Given the description of an element on the screen output the (x, y) to click on. 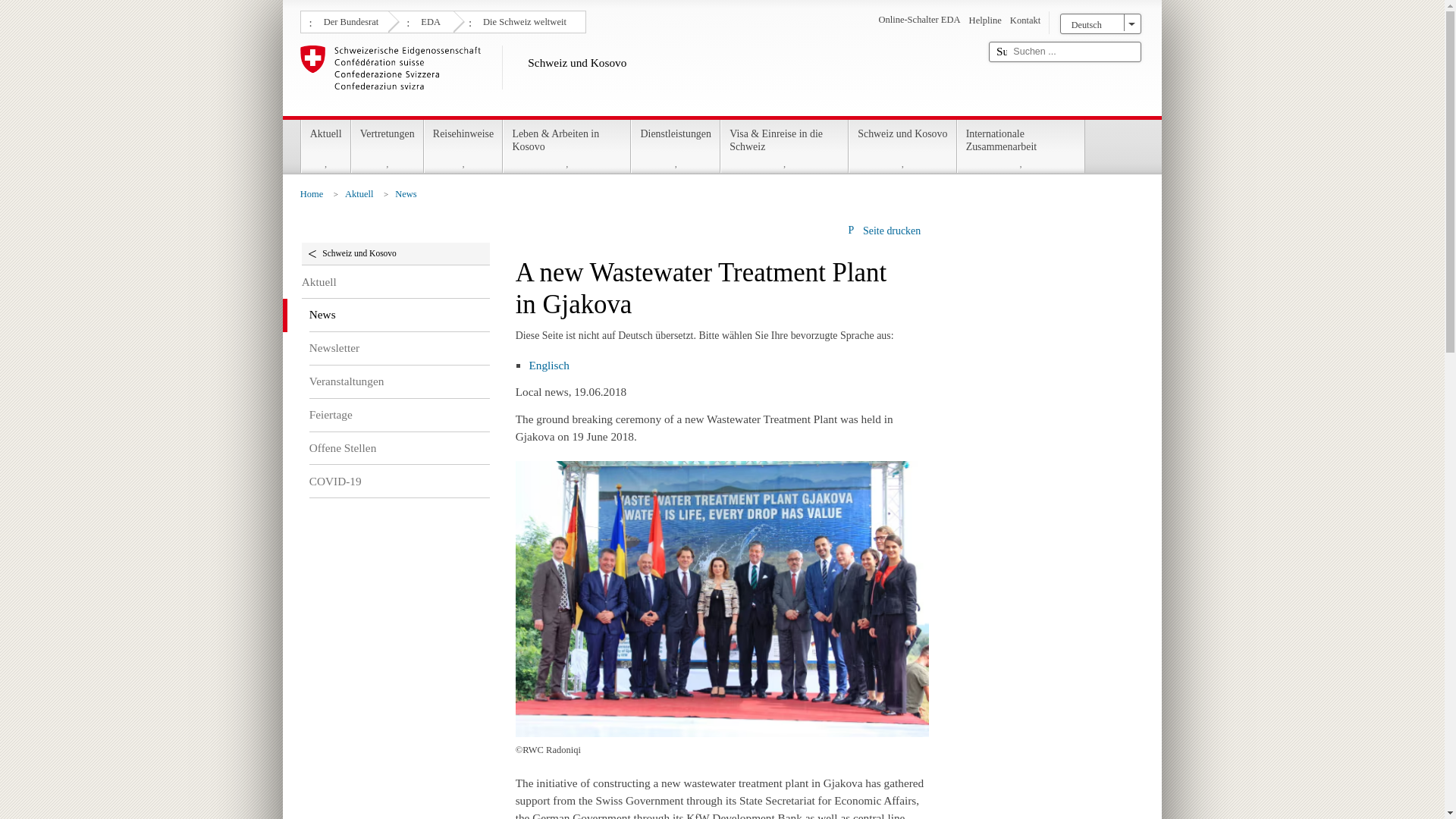
Der Bundesrat (349, 20)
Die Schweiz weltweit (522, 20)
Schweiz und Kosovo (637, 76)
EDA (428, 20)
Submit (1001, 51)
